Given the description of an element on the screen output the (x, y) to click on. 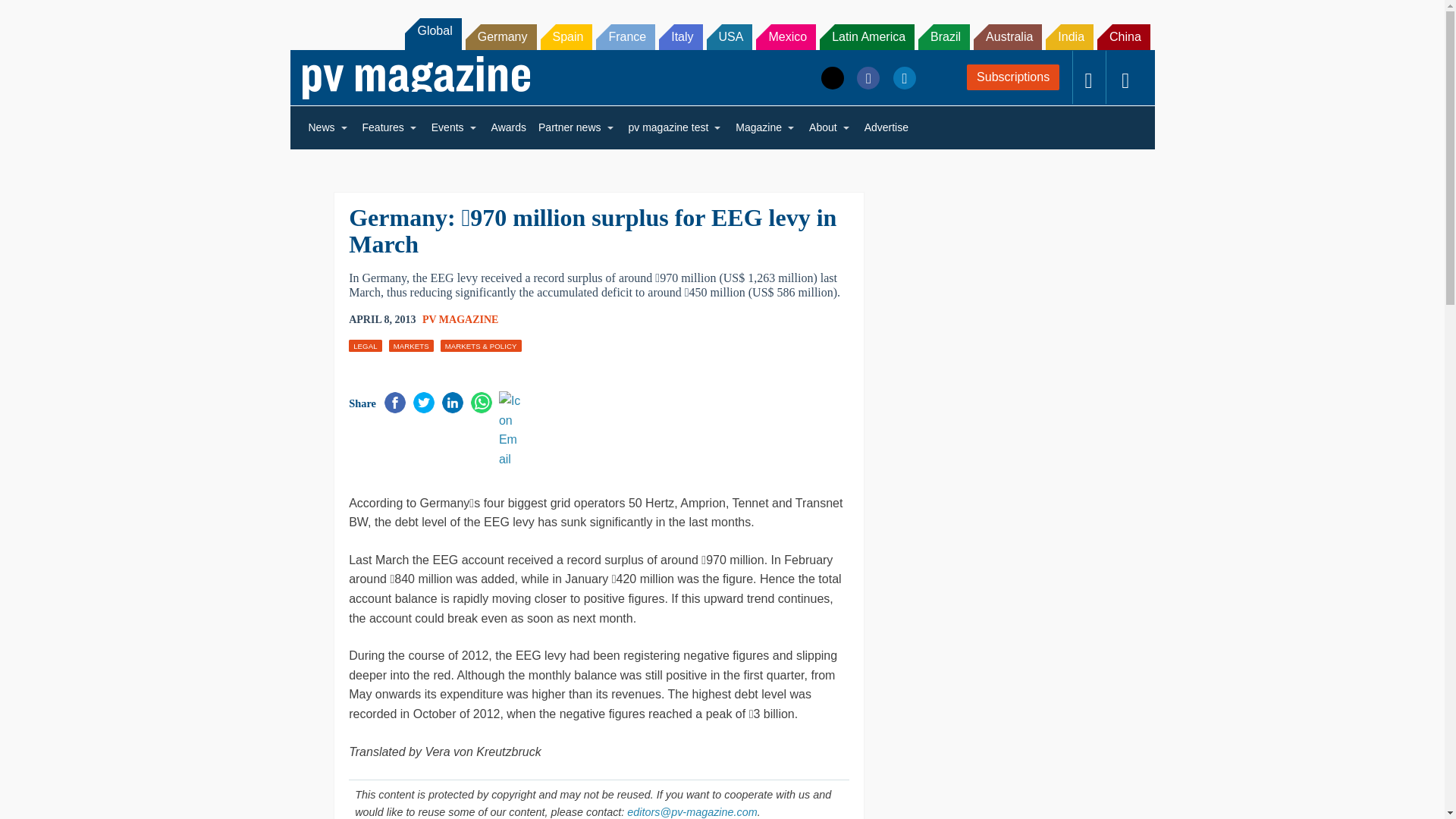
Latin America (866, 36)
Spain (566, 36)
Subscriptions (1012, 77)
China (1123, 36)
France (625, 36)
Australia (1008, 36)
India (1069, 36)
Monday, April 8, 2013, 12:00 am (381, 320)
Global (432, 33)
Germany (501, 36)
pv magazine - Photovoltaics Markets and Technology (415, 77)
Posts by pv magazine (459, 319)
Search (32, 15)
USA (729, 36)
Brazil (943, 36)
